Given the description of an element on the screen output the (x, y) to click on. 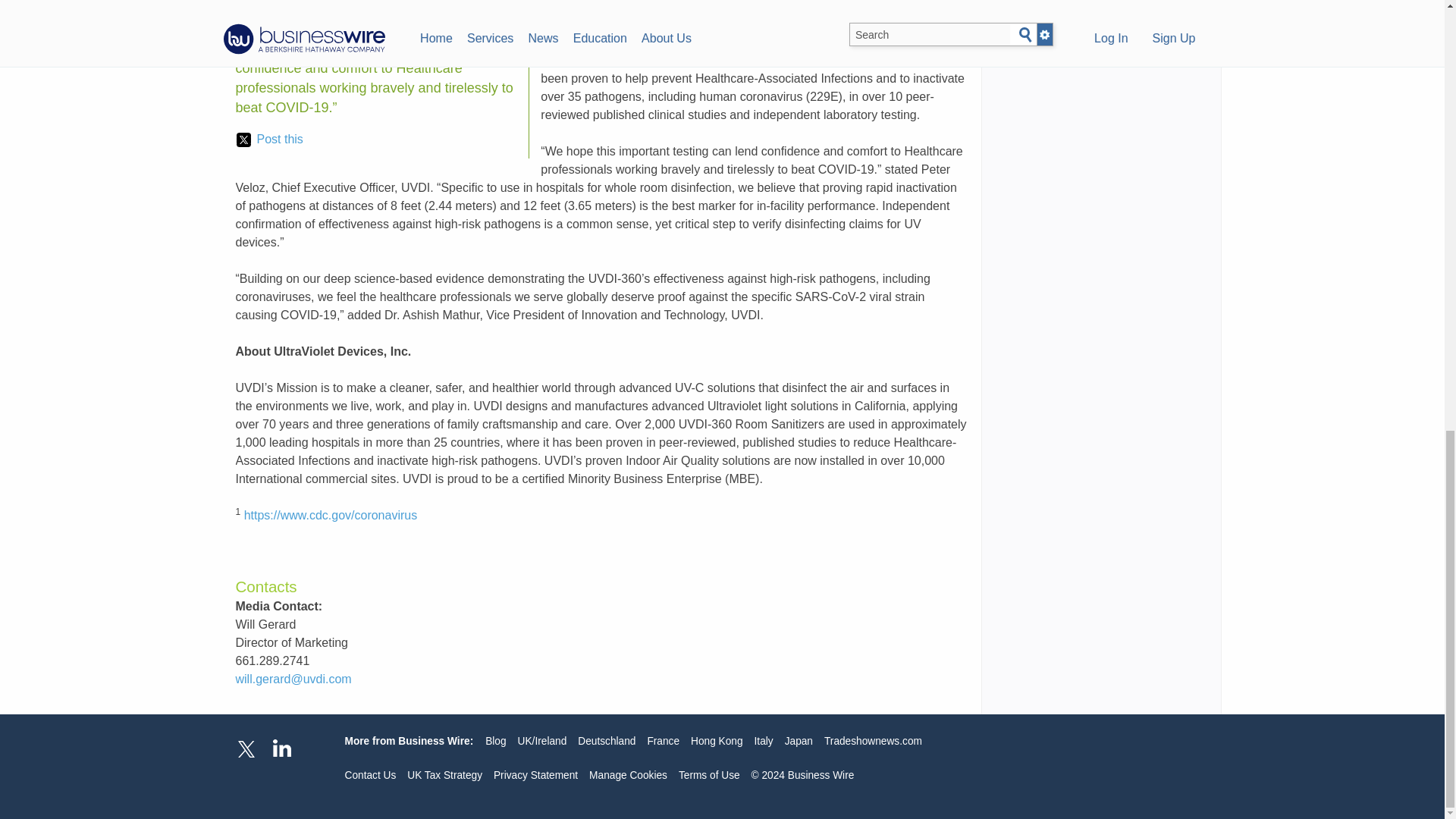
Post this (269, 138)
